Given the description of an element on the screen output the (x, y) to click on. 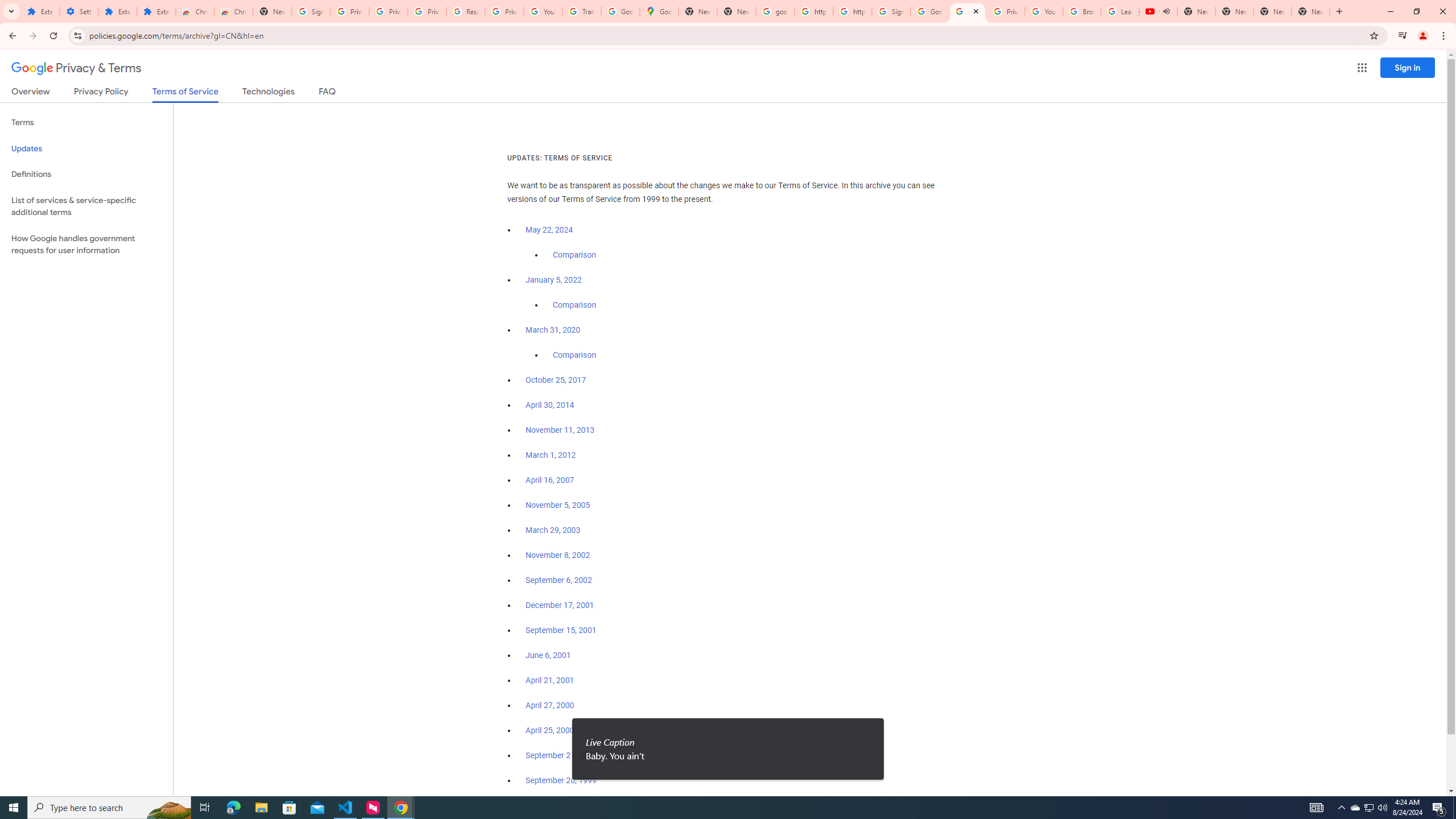
March 1, 2012 (550, 455)
YouTube (1043, 11)
Comparison (574, 355)
https://scholar.google.com/ (813, 11)
November 8, 2002 (557, 555)
